Given the description of an element on the screen output the (x, y) to click on. 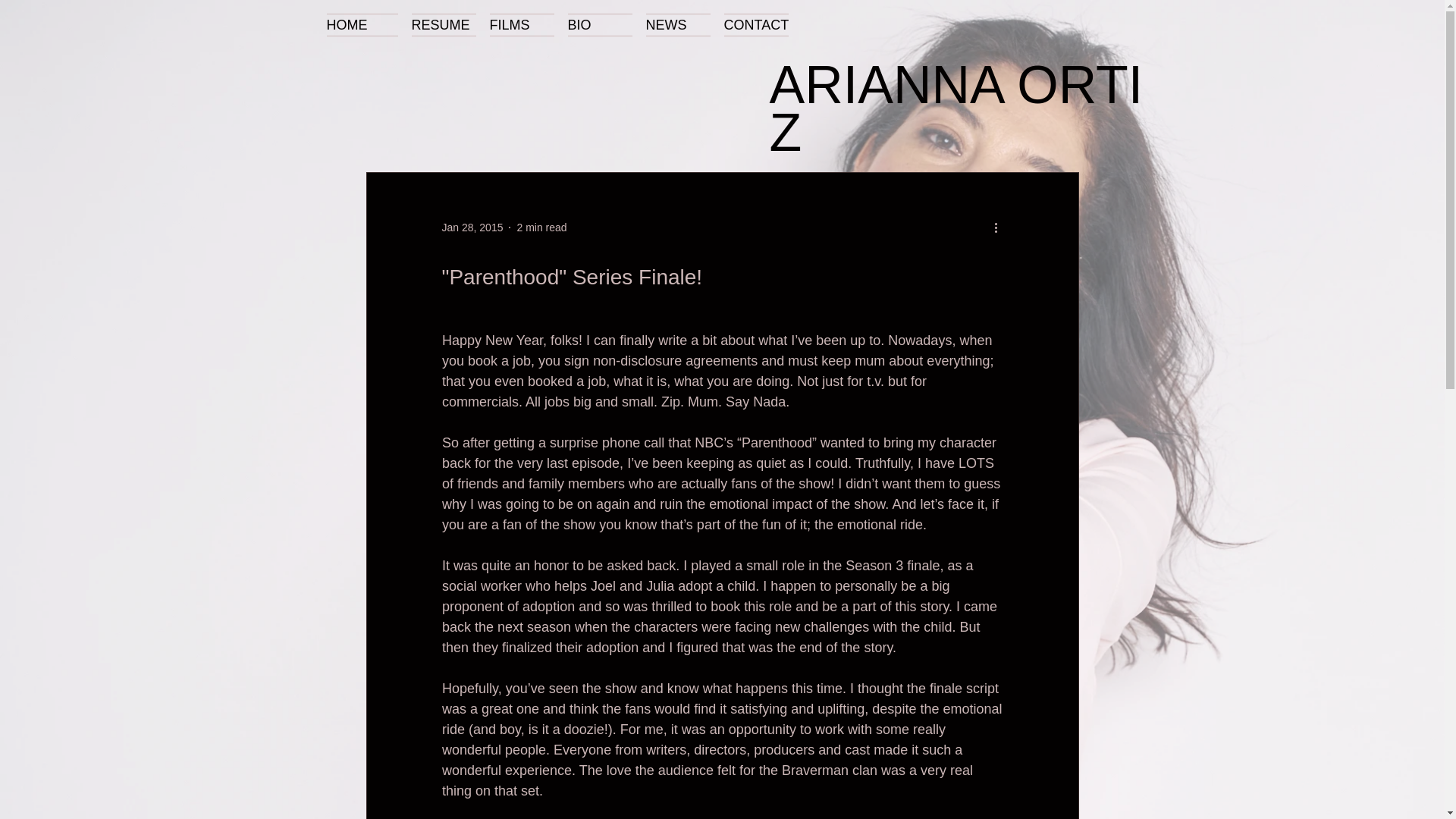
BIO (599, 24)
HOME (365, 24)
Jan 28, 2015 (471, 227)
2 min read (541, 227)
CONTACT (755, 24)
NEWS (677, 24)
FILMS (520, 24)
RESUME (443, 24)
ARIANNA ORTIZ (955, 108)
